Given the description of an element on the screen output the (x, y) to click on. 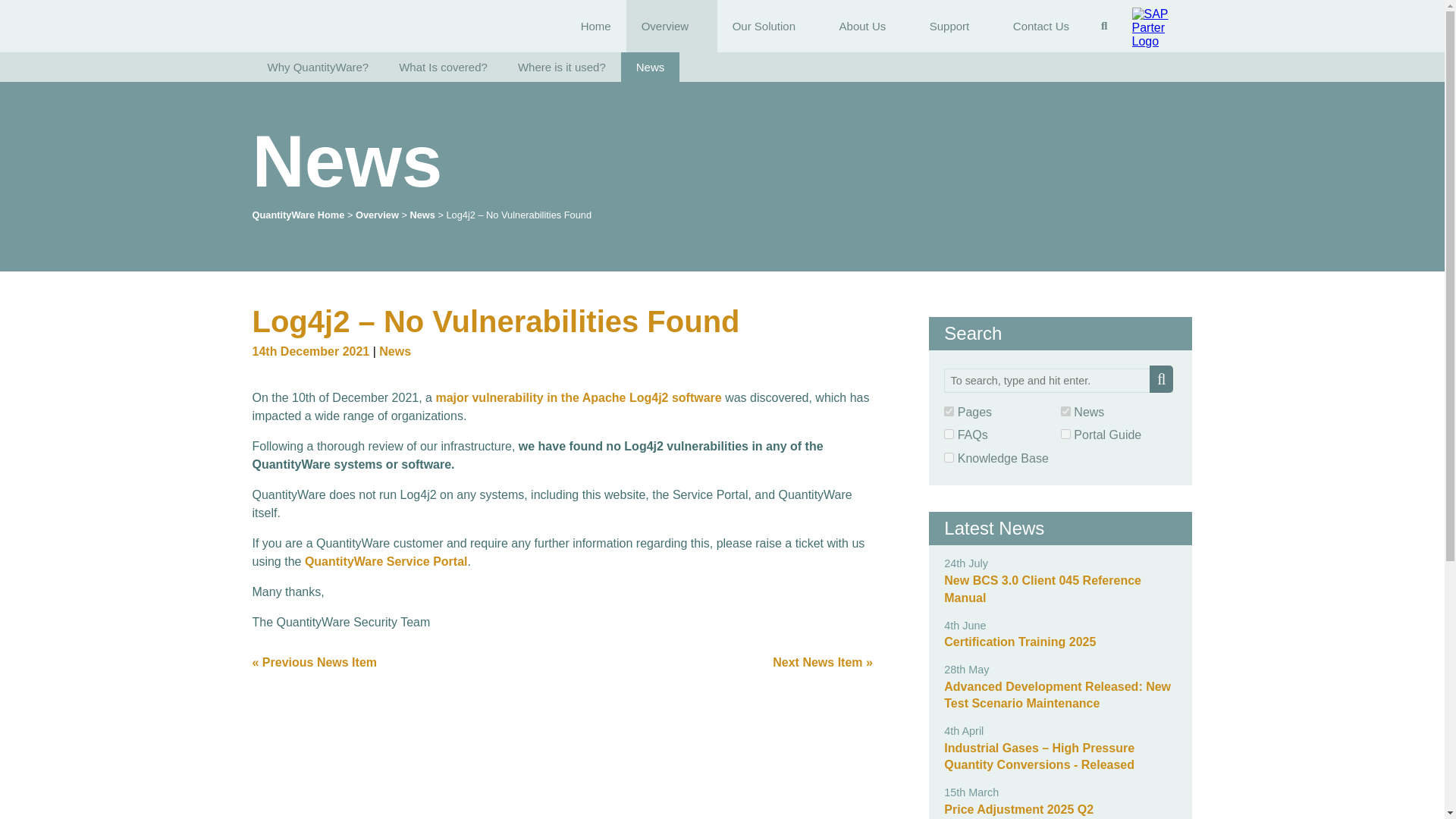
Home (596, 26)
SAP Parter Logo (1161, 27)
Support (955, 26)
yes (948, 433)
yes (1065, 411)
Our Solution (770, 26)
Overview (671, 26)
yes (948, 411)
Contact Us (1040, 26)
yes (948, 457)
yes (948, 457)
yes (1065, 433)
About Us (869, 26)
